Given the description of an element on the screen output the (x, y) to click on. 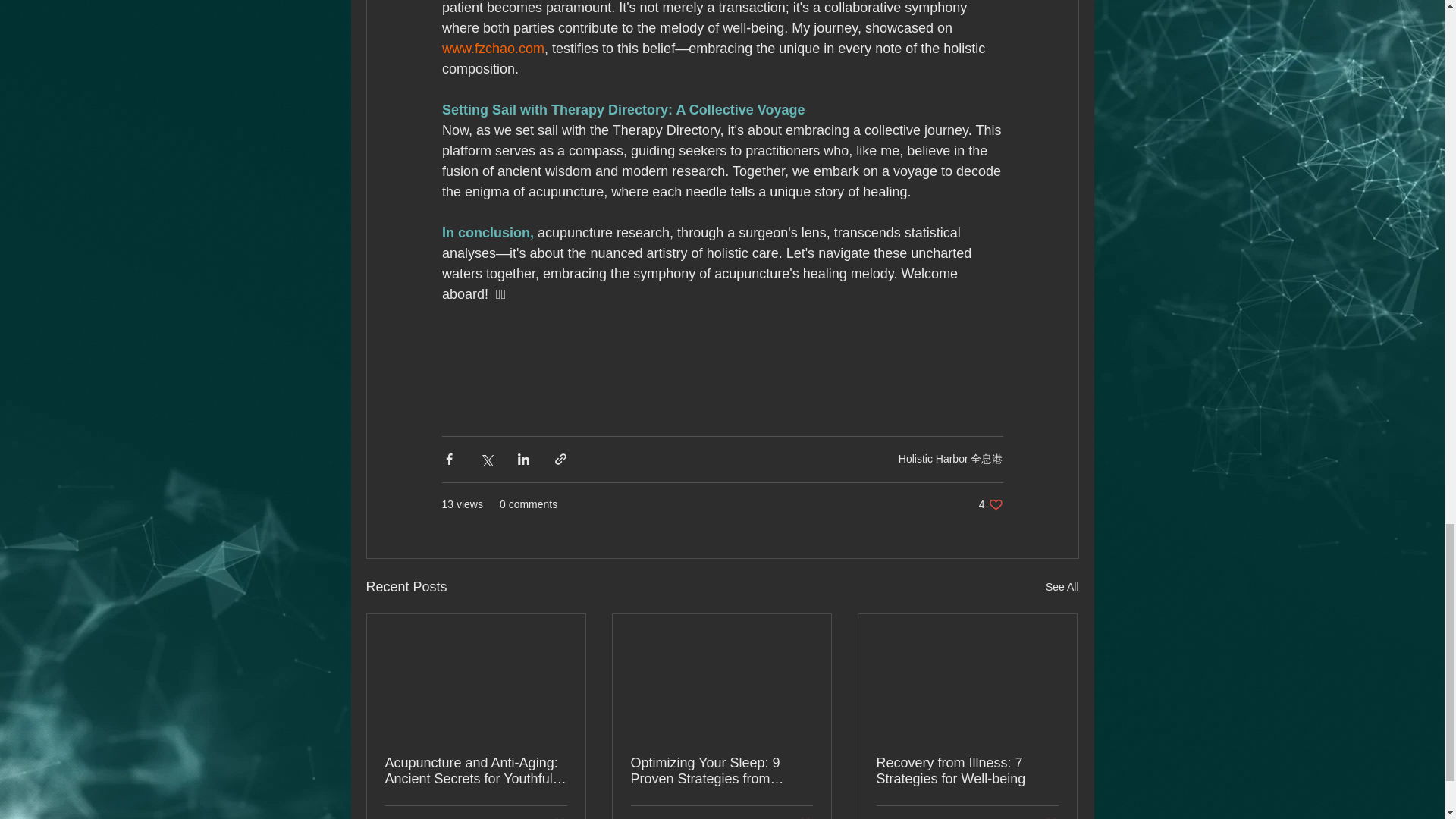
www.fzchao.com (492, 48)
0 (990, 504)
Recovery from Illness: 7 Strategies for Well-being (681, 817)
0 (555, 817)
0 (800, 817)
